Given the description of an element on the screen output the (x, y) to click on. 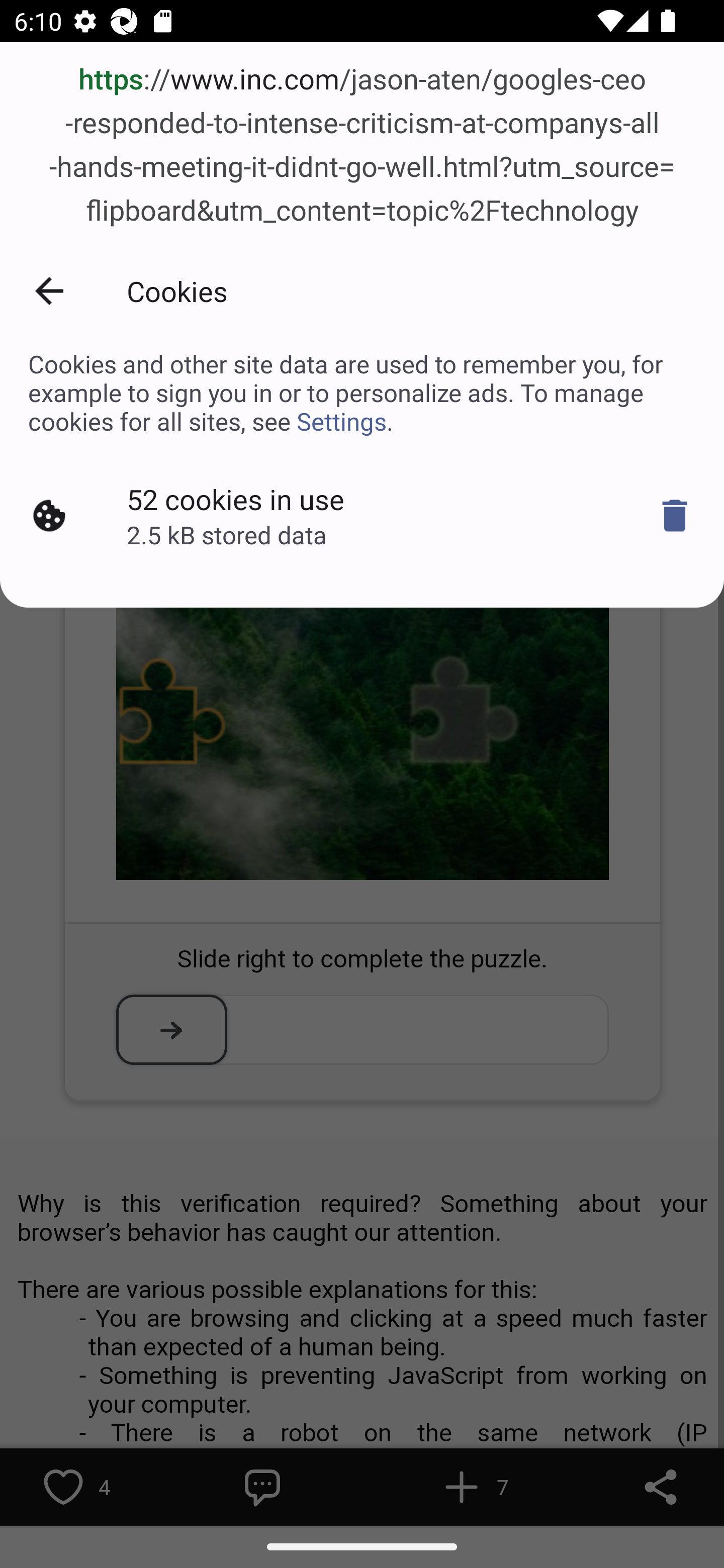
Back (49, 290)
